Given the description of an element on the screen output the (x, y) to click on. 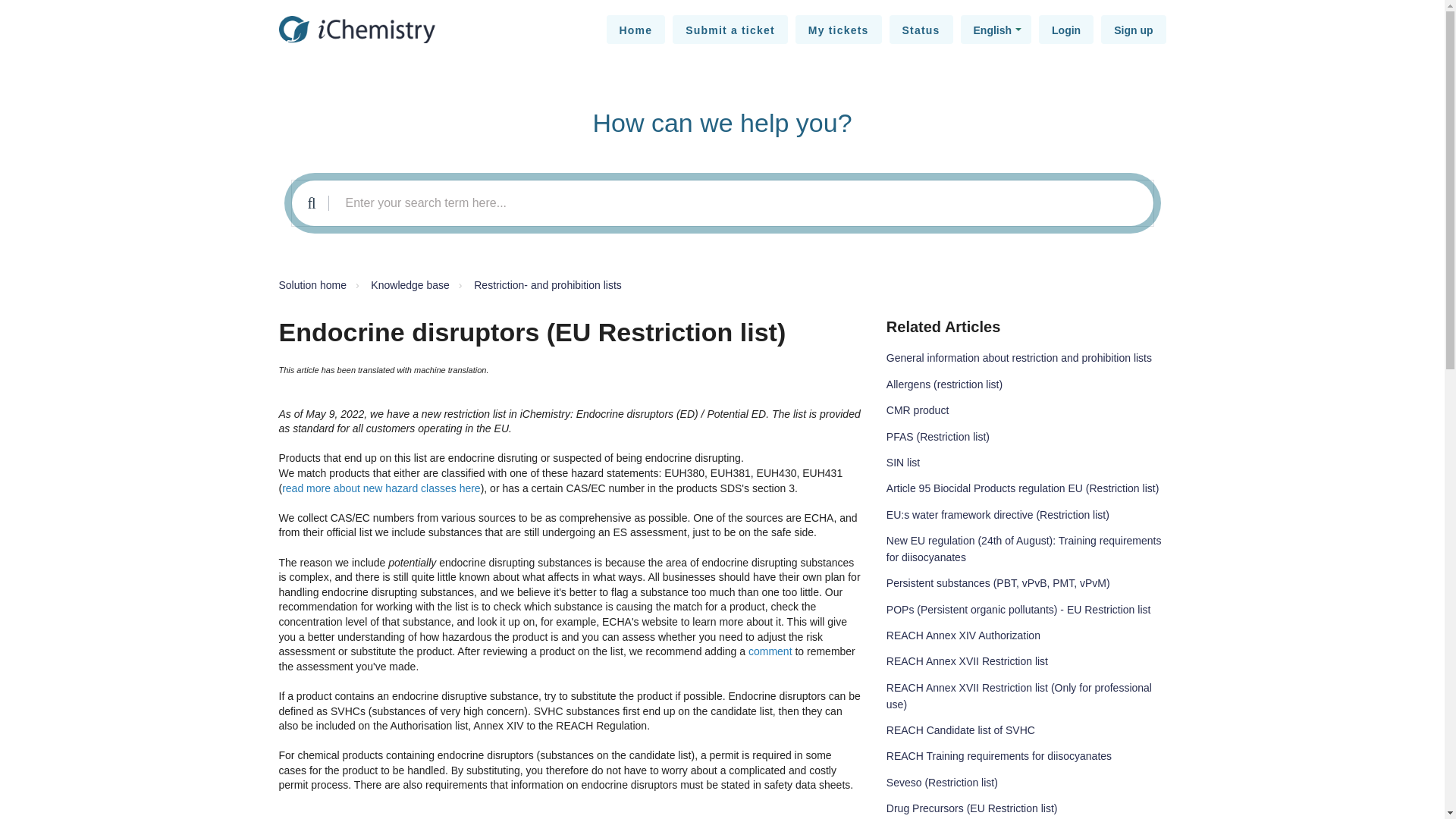
My tickets (838, 29)
Knowledge base (400, 285)
General information about restriction and prohibition lists (1018, 357)
Solution home (313, 285)
Restriction- and prohibition lists (547, 285)
read more about new hazard classes here (381, 488)
REACH Annex XVII Restriction list (967, 661)
REACH Candidate list of SVHC (960, 729)
Submit a ticket (729, 29)
Knowledge base (410, 285)
